Given the description of an element on the screen output the (x, y) to click on. 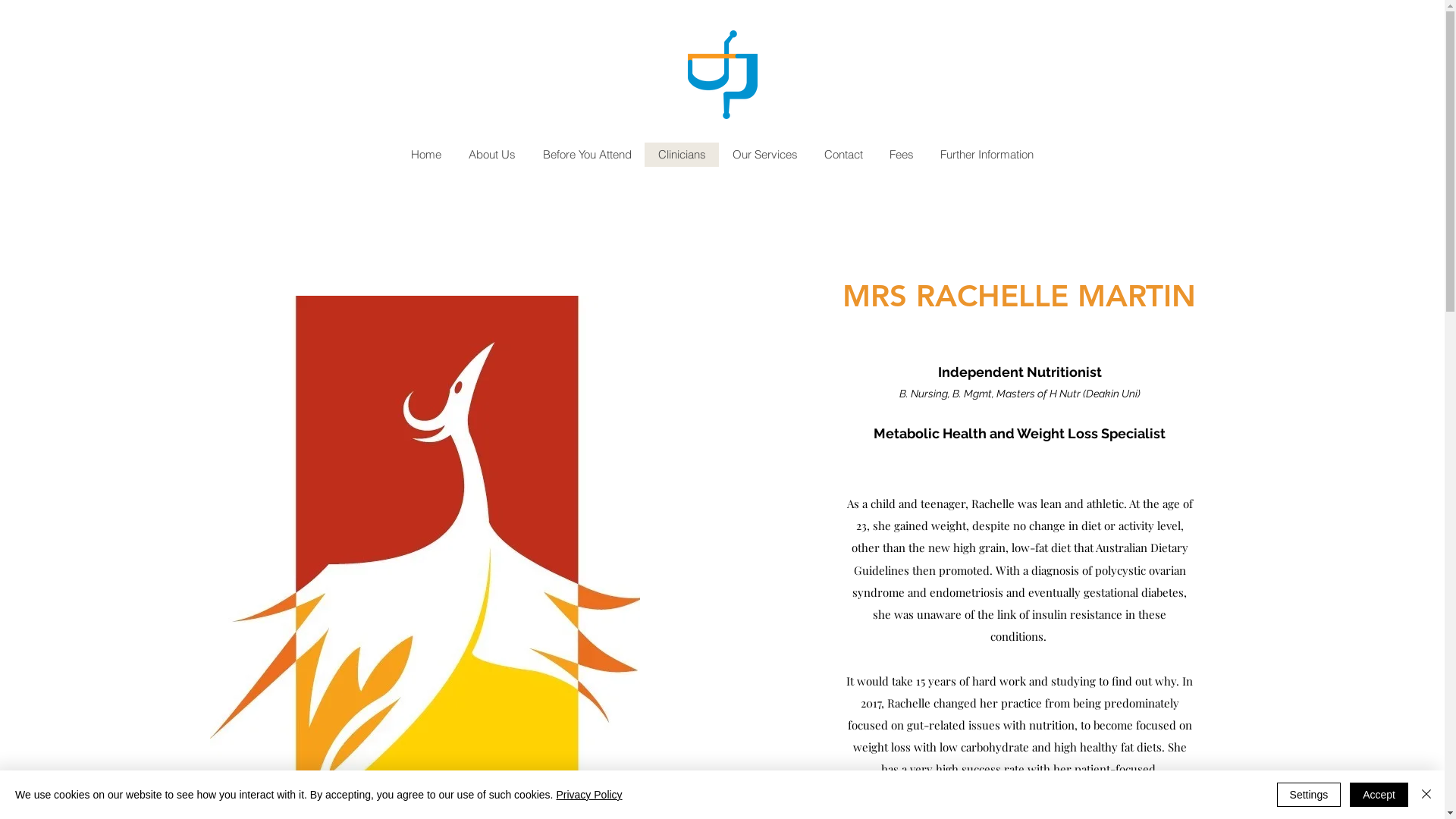
Home Element type: text (425, 154)
Clinicians Element type: text (681, 154)
Settings Element type: text (1309, 794)
Accept Element type: text (1378, 794)
Before You Attend Element type: text (586, 154)
Fees Element type: text (900, 154)
Our Services Element type: text (764, 154)
Further Information Element type: text (986, 154)
Contact Element type: text (842, 154)
About Us Element type: text (492, 154)
Privacy Policy Element type: text (588, 794)
